Given the description of an element on the screen output the (x, y) to click on. 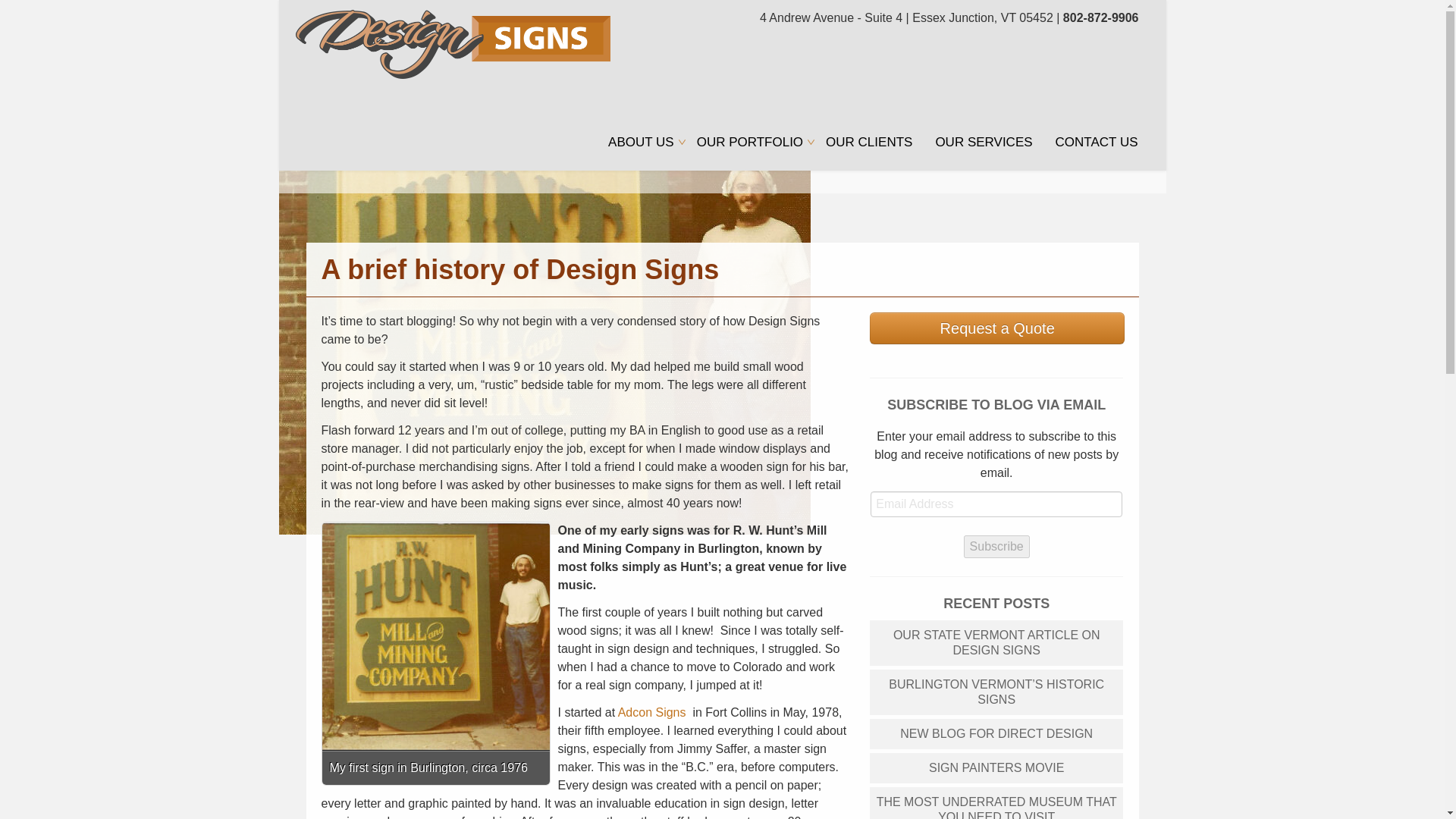
ABOUT US (640, 142)
OUR SERVICES (983, 142)
SIGN PAINTERS MOVIE (996, 767)
Adcon Signs (651, 711)
THE MOST UNDERRATED MUSEUM THAT YOU NEED TO VISIT (996, 803)
Request a Quote (997, 334)
OUR STATE VERMONT ARTICLE ON DESIGN SIGNS (996, 642)
CONTACT US (1096, 142)
NEW BLOG FOR DIRECT DESIGN (996, 734)
Subscribe (996, 546)
